Given the description of an element on the screen output the (x, y) to click on. 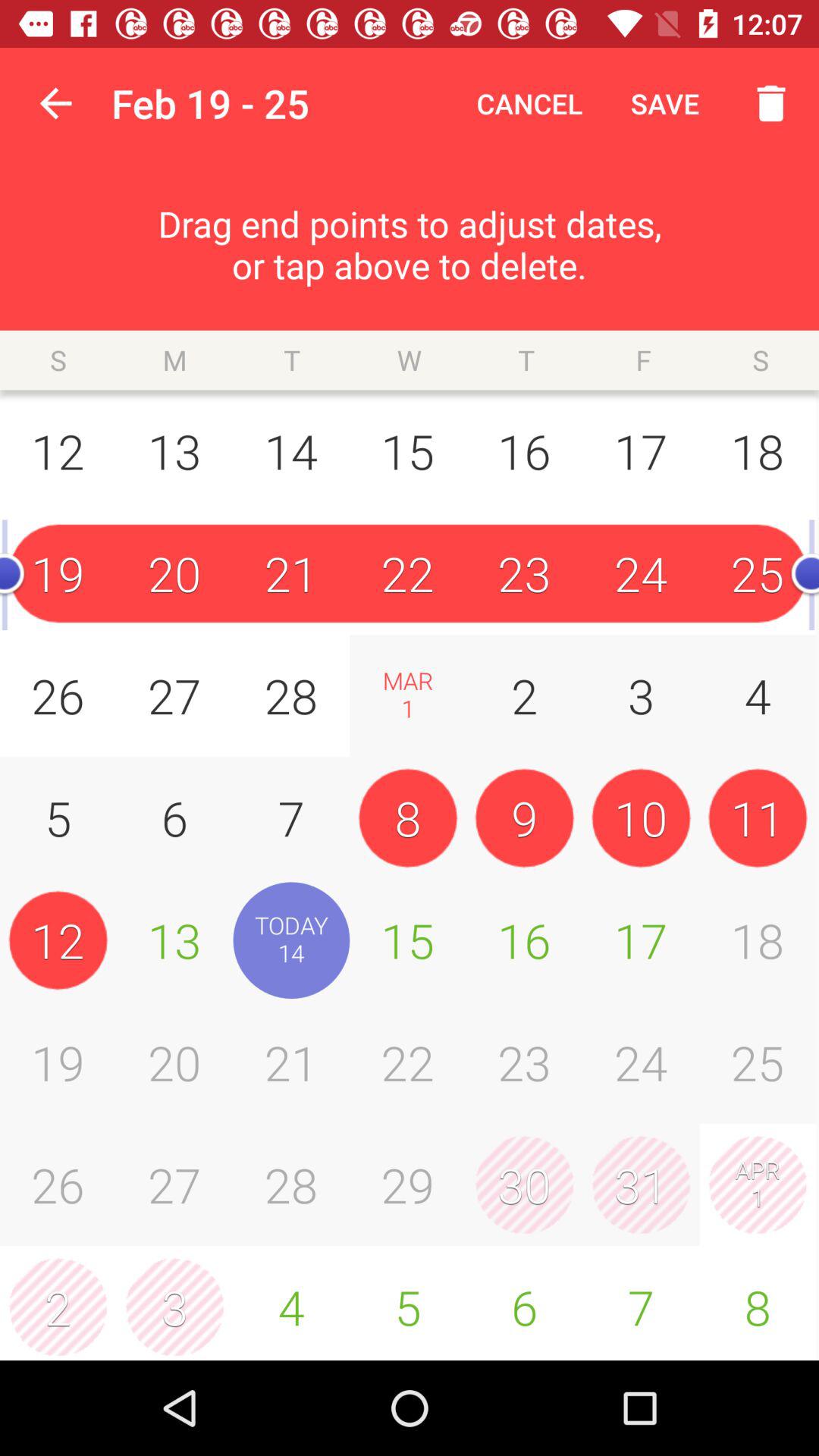
tap the item next to the edit period item (55, 103)
